Given the description of an element on the screen output the (x, y) to click on. 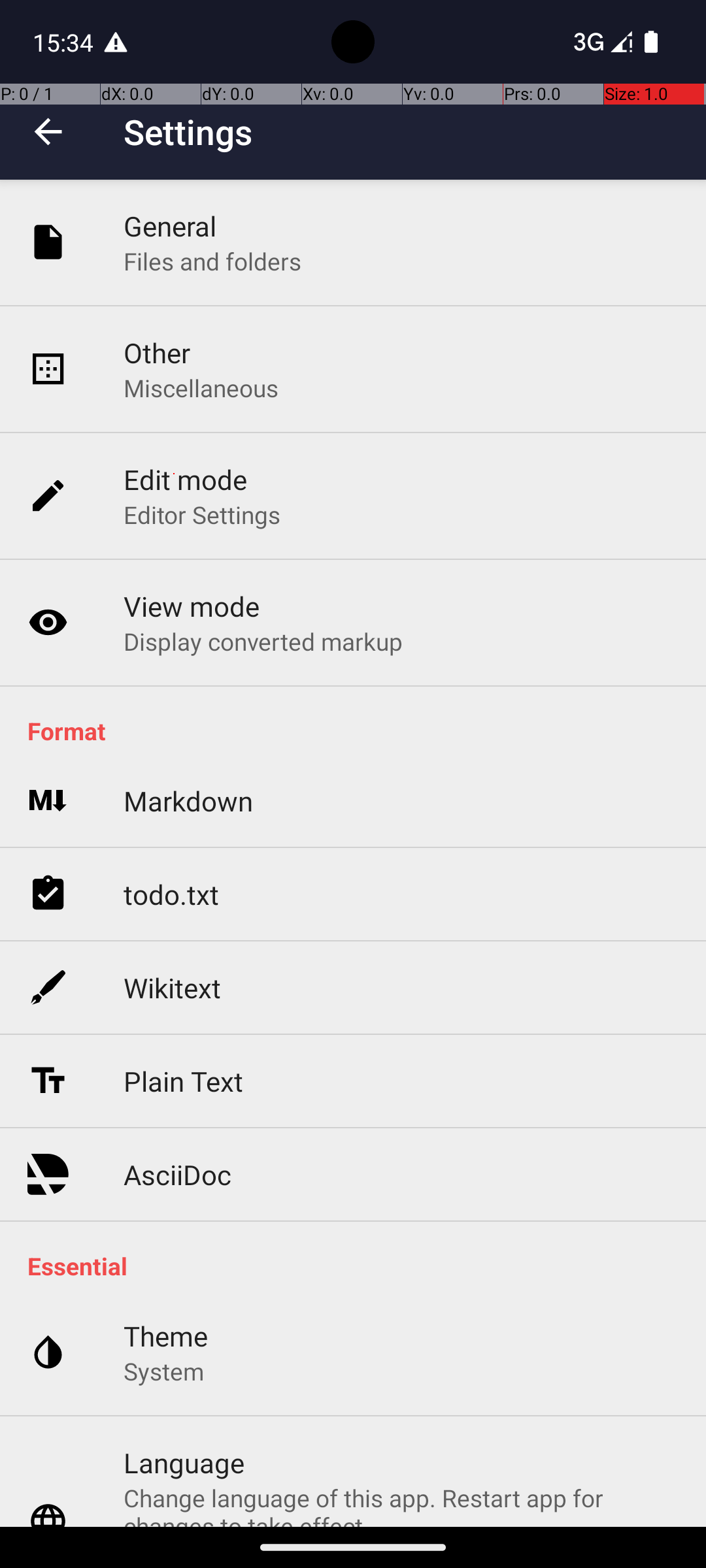
Format Element type: android.widget.TextView (359, 730)
Essential Element type: android.widget.TextView (359, 1265)
General Element type: android.widget.TextView (170, 225)
Files and folders Element type: android.widget.TextView (212, 260)
Other Element type: android.widget.TextView (156, 352)
Miscellaneous Element type: android.widget.TextView (200, 387)
Edit mode Element type: android.widget.TextView (185, 478)
Editor Settings Element type: android.widget.TextView (202, 514)
Display converted markup Element type: android.widget.TextView (263, 640)
Markdown Element type: android.widget.TextView (187, 800)
todo.txt Element type: android.widget.TextView (170, 893)
Wikitext Element type: android.widget.TextView (171, 987)
Plain Text Element type: android.widget.TextView (183, 1080)
AsciiDoc Element type: android.widget.TextView (177, 1173)
Theme Element type: android.widget.TextView (165, 1335)
System Element type: android.widget.TextView (163, 1370)
Language Element type: android.widget.TextView (183, 1462)
Change language of this app. Restart app for changes to take effect

English (English, United States) Element type: android.widget.TextView (400, 1503)
